Given the description of an element on the screen output the (x, y) to click on. 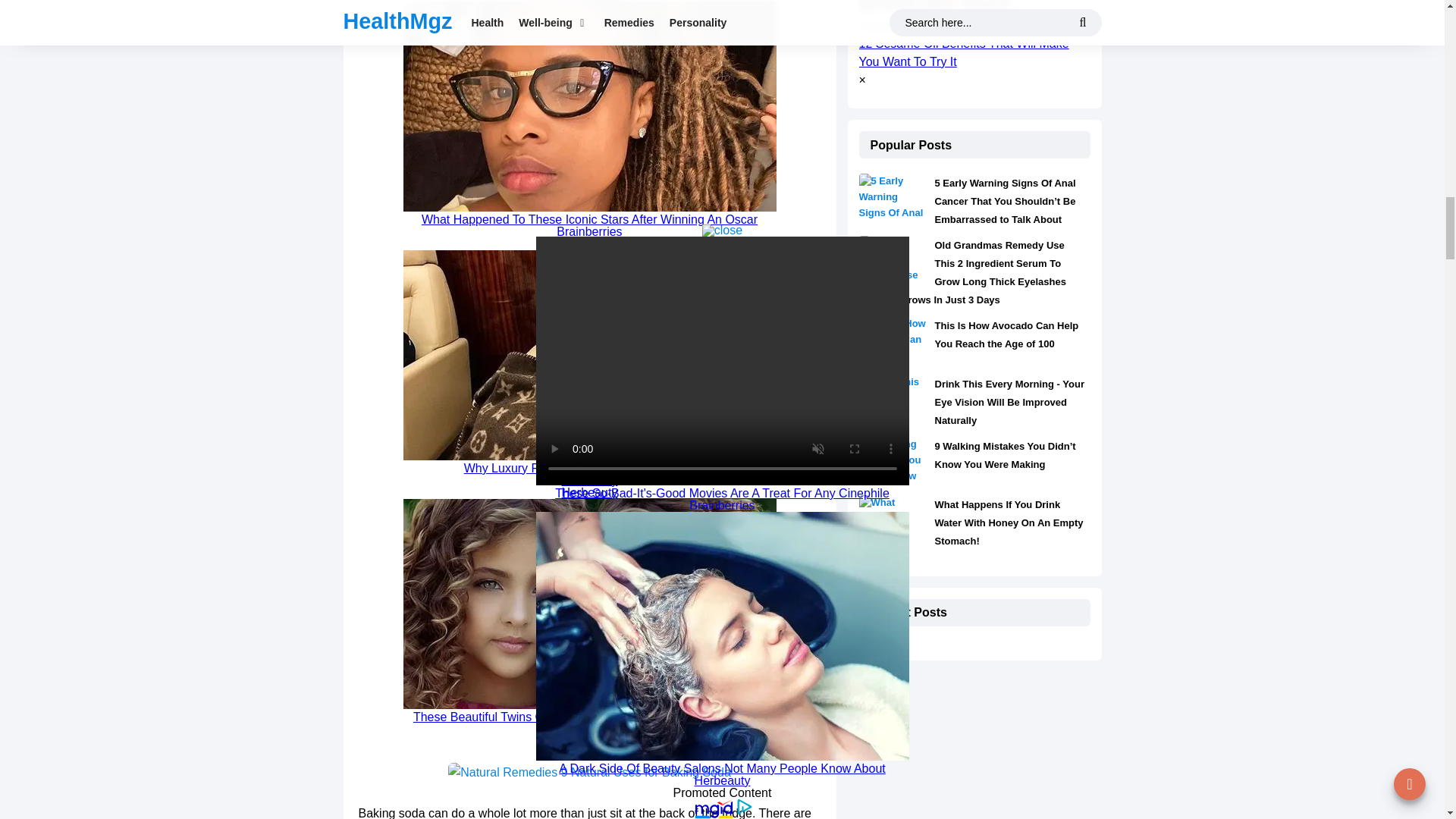
This Is How Avocado Can Help You Reach the Age of 100 (1006, 334)
Natural Remedies 9 Natural Uses for Baking Soda (589, 772)
This Is How Avocado Can Help You Reach the Age of 100 (892, 350)
